Given the description of an element on the screen output the (x, y) to click on. 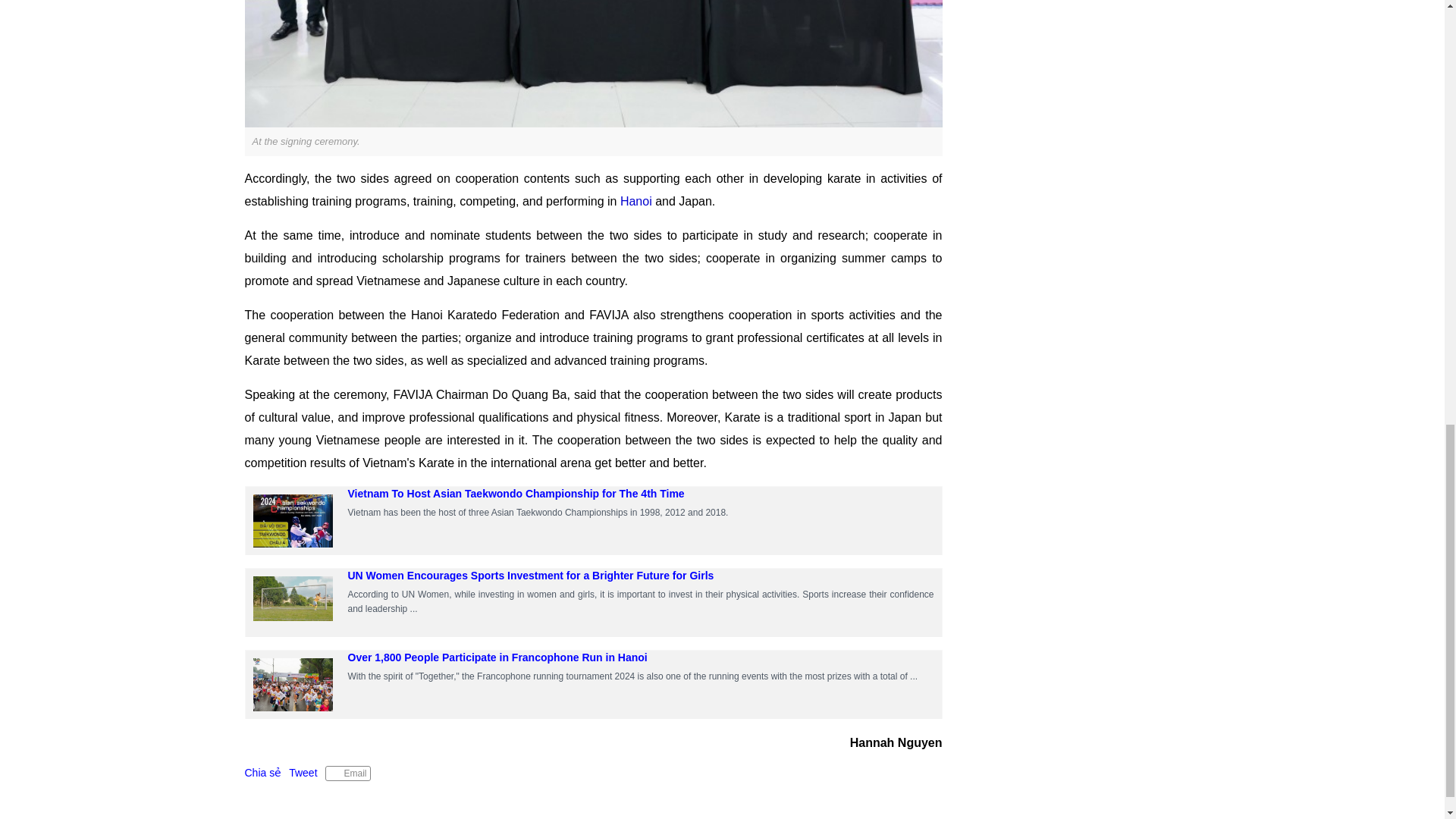
Over 1,800 People Participate in Francophone Run in Hanoi (293, 684)
Tweet (302, 772)
Over 1,800 People Participate in Francophone Run in Hanoi (496, 657)
Share by Email (347, 773)
Email (347, 773)
Sport Exchange Helps Strengthen Vietnam-Japan Solidarity (593, 63)
Hanoi (636, 201)
Over 1,800 People Participate in Francophone Run in Hanoi (496, 657)
